Given the description of an element on the screen output the (x, y) to click on. 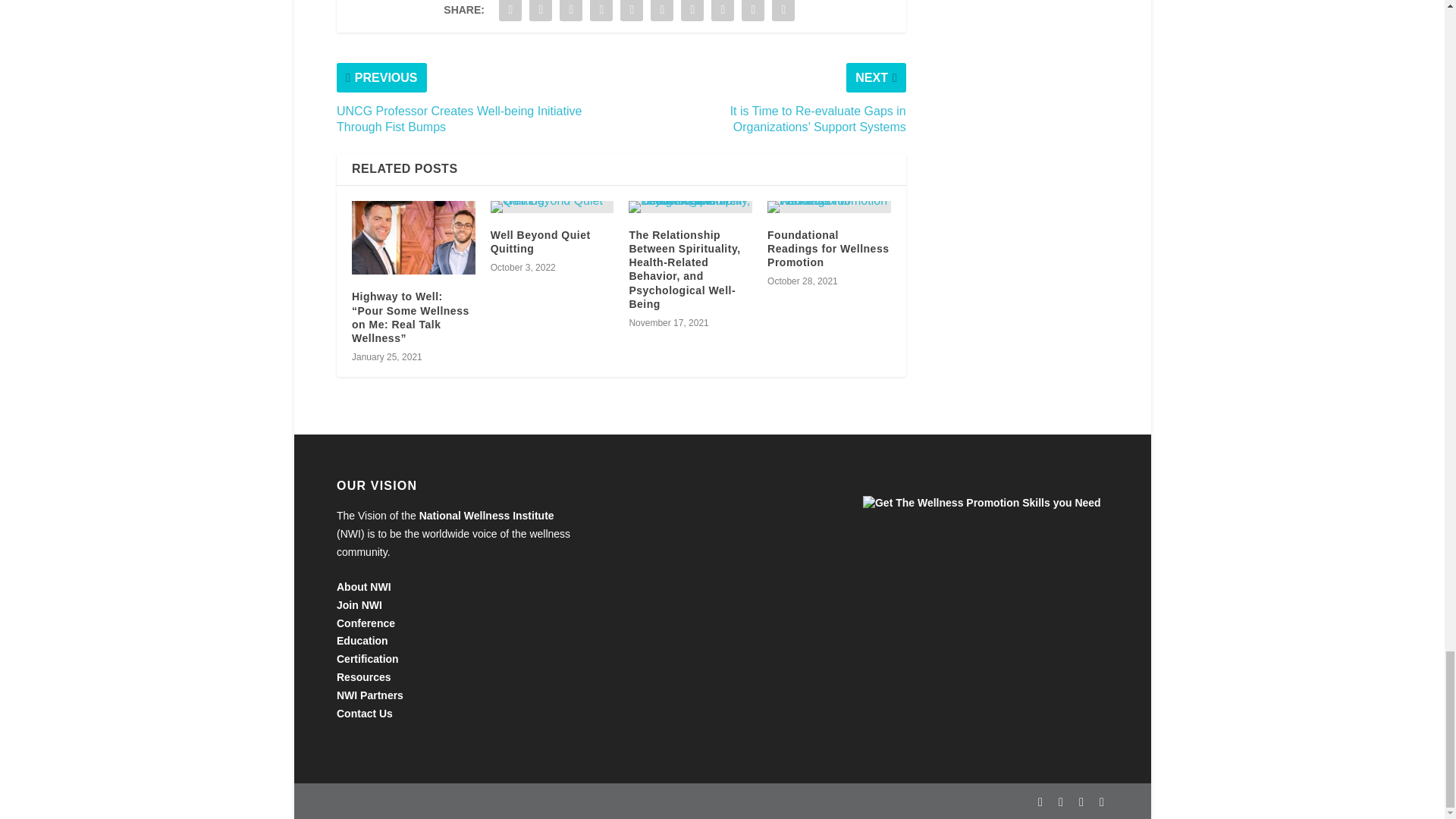
Well Beyond Quiet Quitting (552, 206)
